Given the description of an element on the screen output the (x, y) to click on. 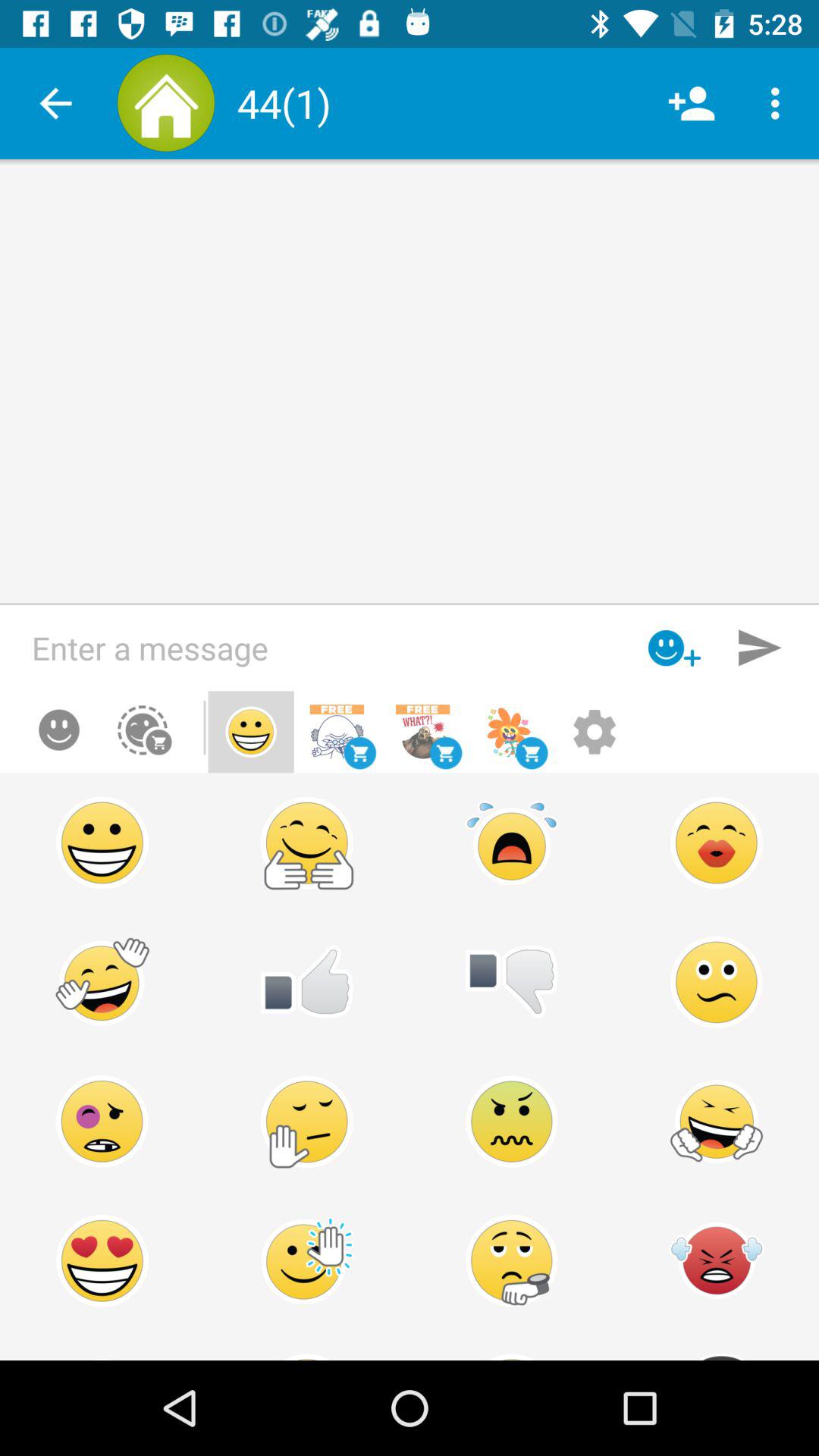
select the item next to the (1) icon (691, 103)
